Given the description of an element on the screen output the (x, y) to click on. 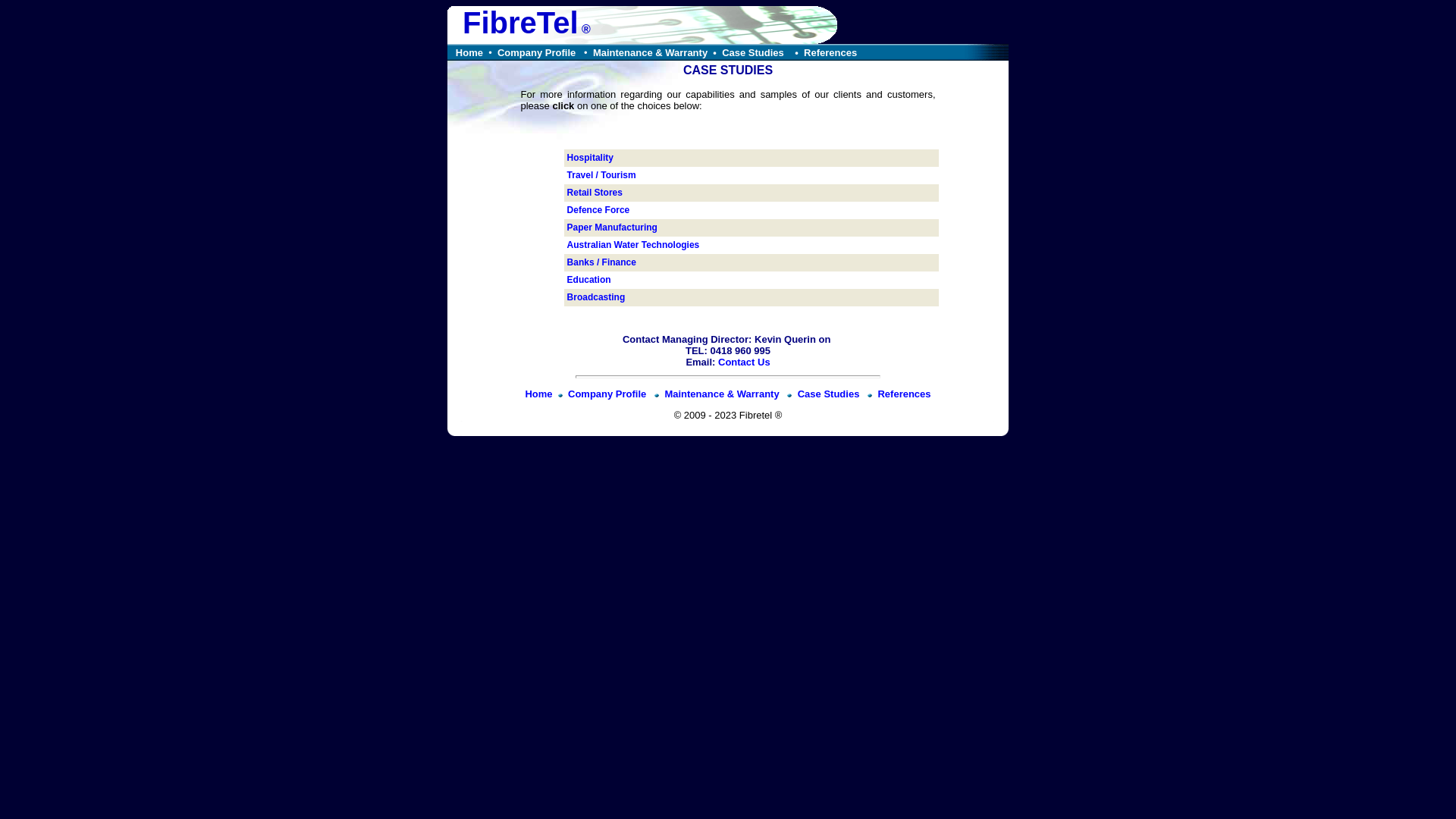
Retail Stores Element type: text (594, 192)
Hospitality Element type: text (590, 157)
Case Studies Element type: text (753, 52)
Travel / Tourism Element type: text (601, 174)
Australian Water Technologies Element type: text (633, 244)
Case Studies Element type: text (829, 393)
Broadcasting Element type: text (596, 296)
Contact Us Element type: text (744, 361)
Defence Force Element type: text (598, 209)
Education Element type: text (589, 279)
Maintenance & Warranty Element type: text (650, 52)
Home Element type: text (469, 52)
Company Profile Element type: text (608, 393)
Paper Manufacturing Element type: text (612, 227)
References Element type: text (903, 393)
Maintenance & Warranty Element type: text (722, 393)
Home Element type: text (538, 393)
Banks / Finance Element type: text (601, 262)
References Element type: text (829, 52)
Company Profile Element type: text (536, 52)
